Given the description of an element on the screen output the (x, y) to click on. 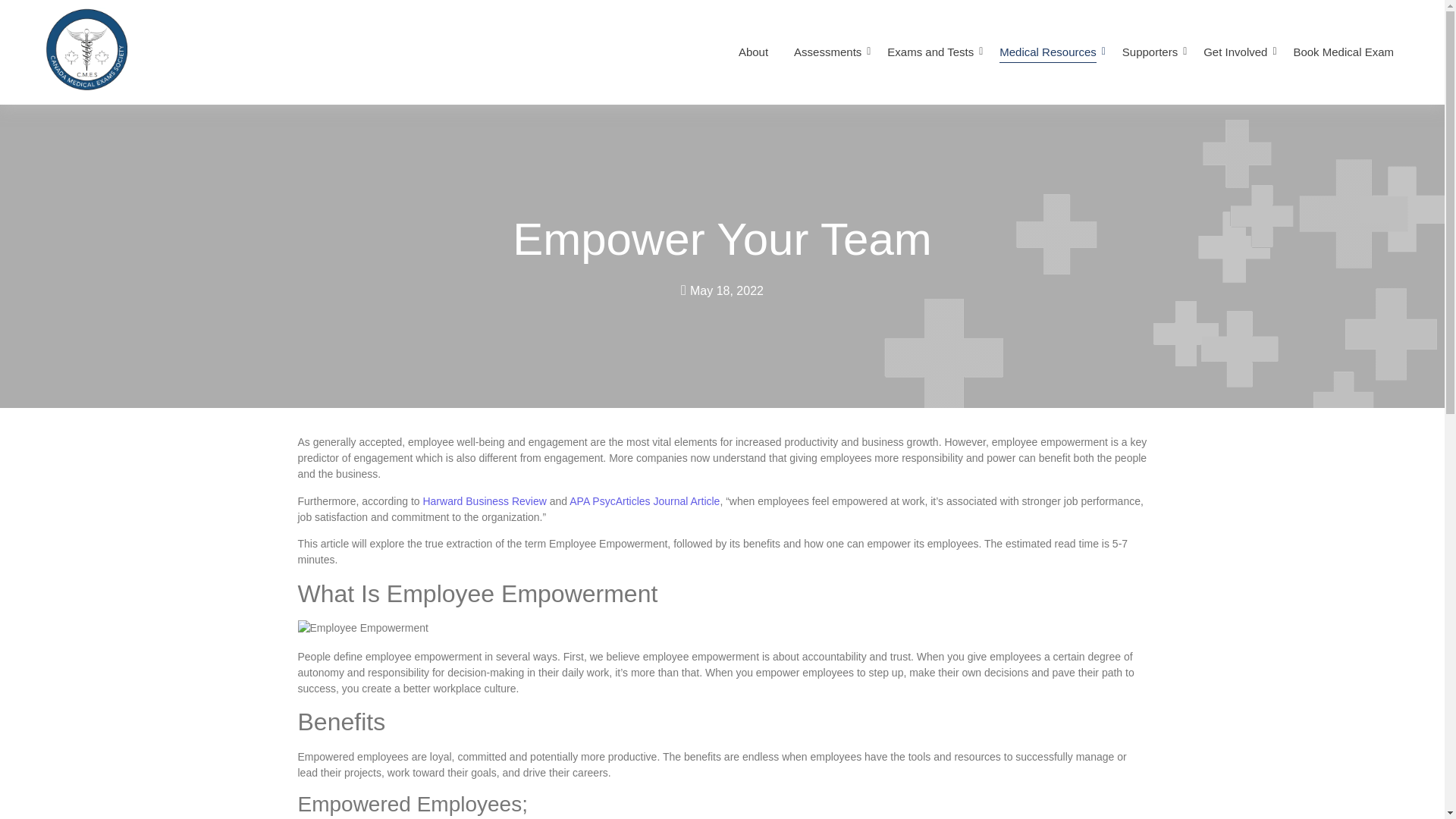
About (753, 52)
Medical Resources (1048, 52)
Assessments (827, 52)
Exams and Tests (930, 52)
